Given the description of an element on the screen output the (x, y) to click on. 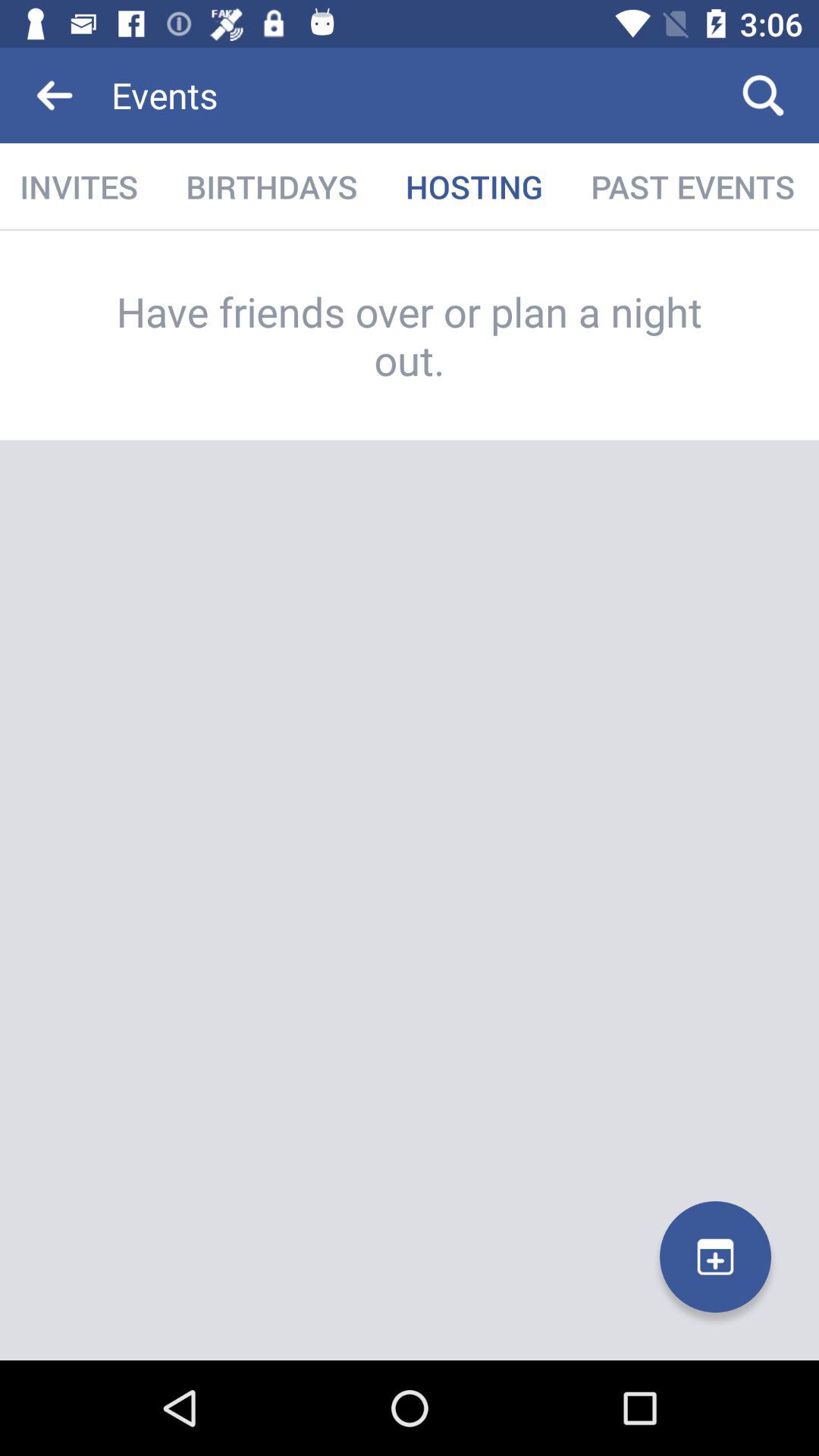
launch item next to events item (763, 95)
